Given the description of an element on the screen output the (x, y) to click on. 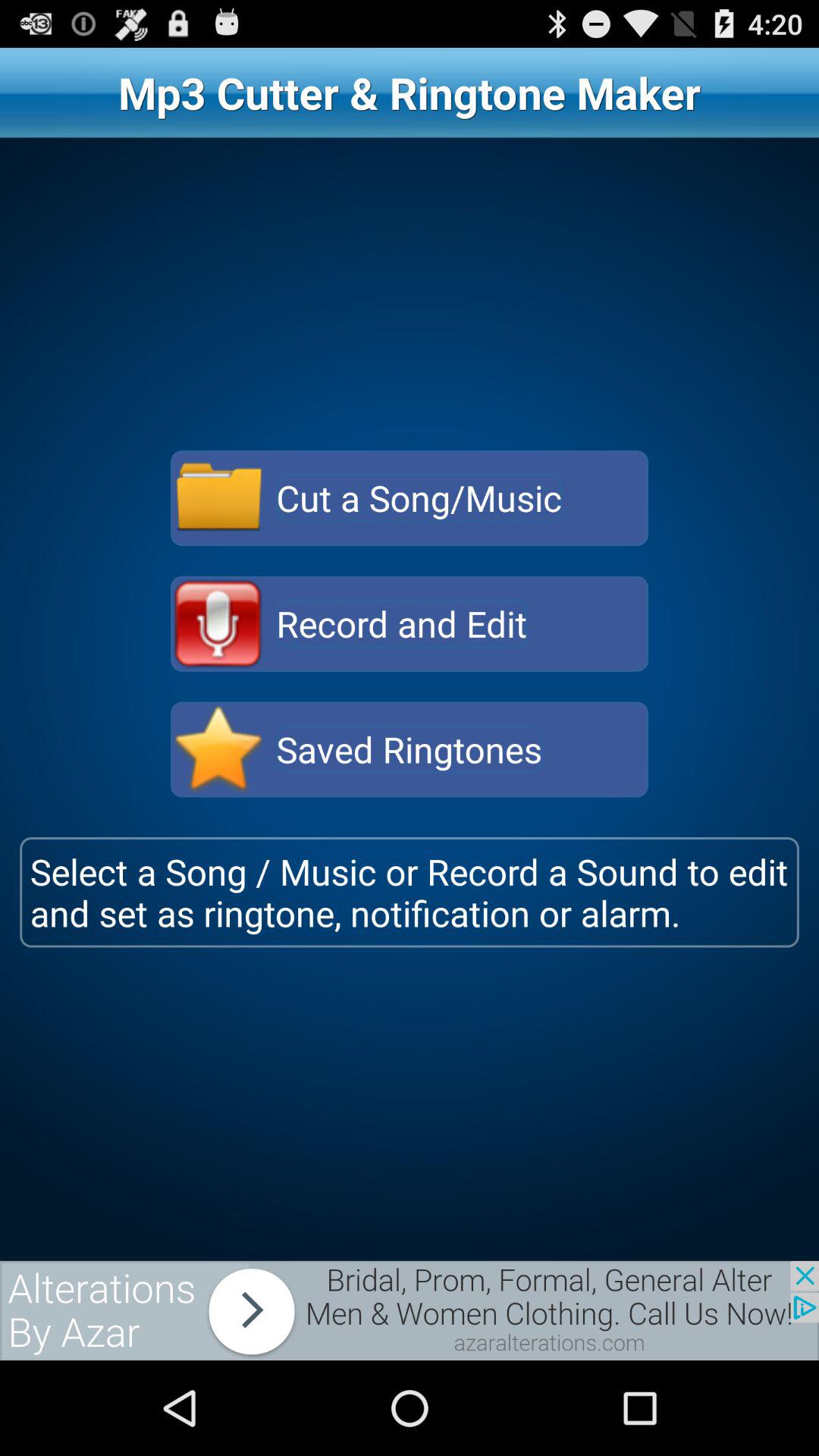
go to advertisement (409, 1310)
